Given the description of an element on the screen output the (x, y) to click on. 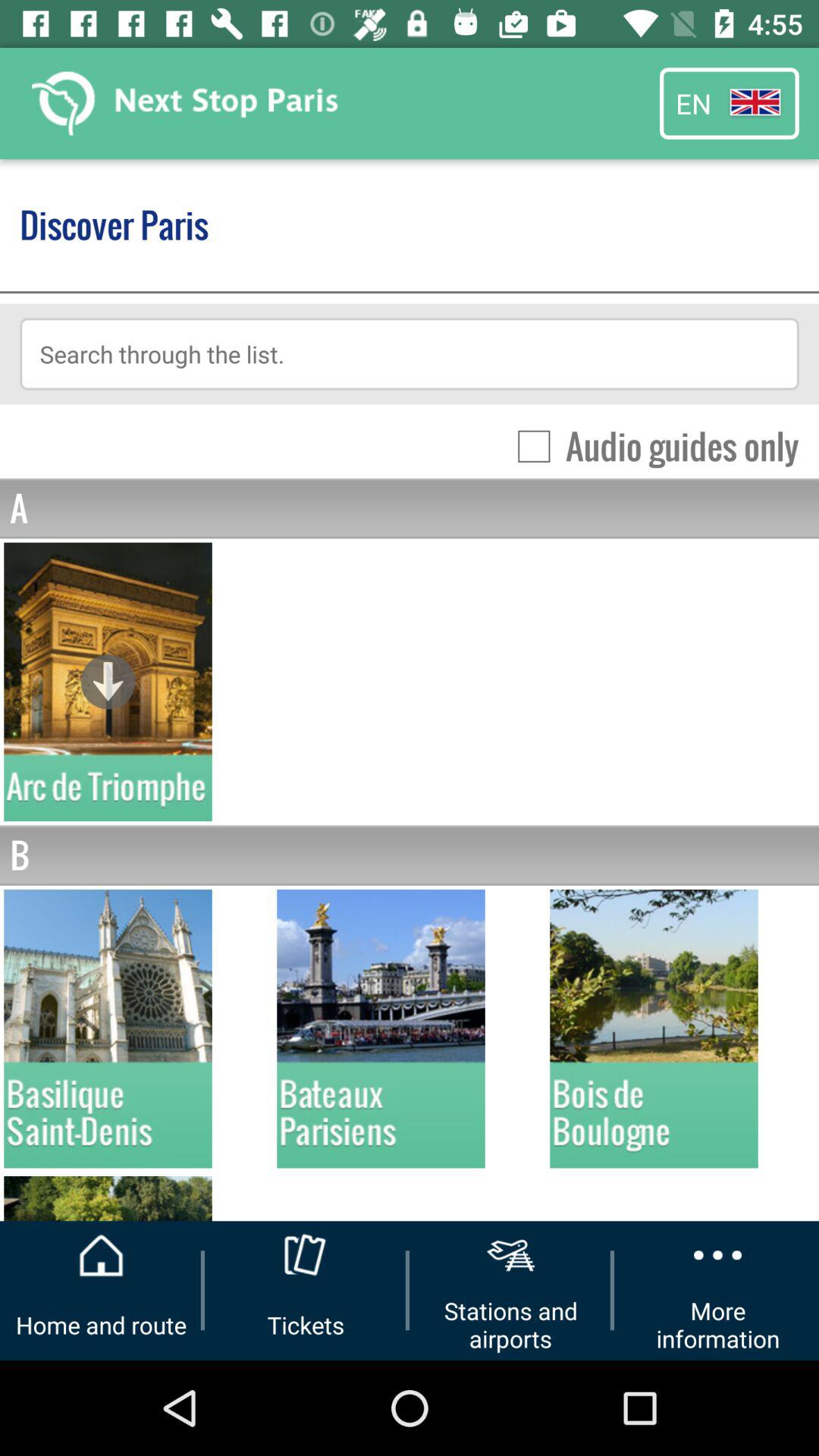
scroll until audio guides only icon (650, 446)
